Given the description of an element on the screen output the (x, y) to click on. 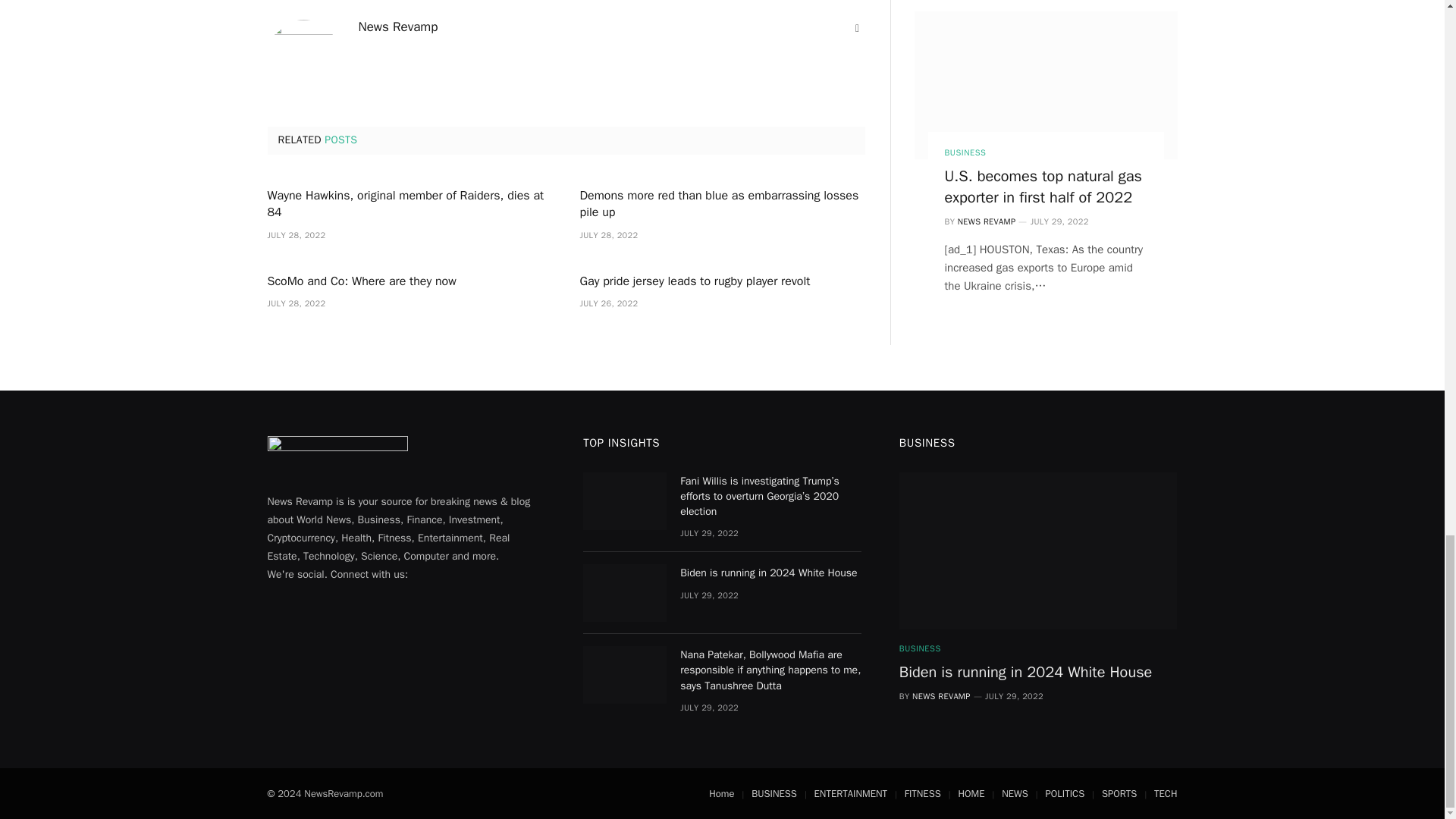
News Revamp (398, 27)
Posts by News Revamp (398, 27)
ScoMo and Co: Where are they now (408, 281)
Website (856, 28)
Gay pride jersey leads to rugby player revolt (721, 281)
Wayne Hawkins, original member of Raiders, dies at 84 (408, 204)
Website (856, 28)
Demons more red than blue as embarrassing losses pile up (721, 204)
